Given the description of an element on the screen output the (x, y) to click on. 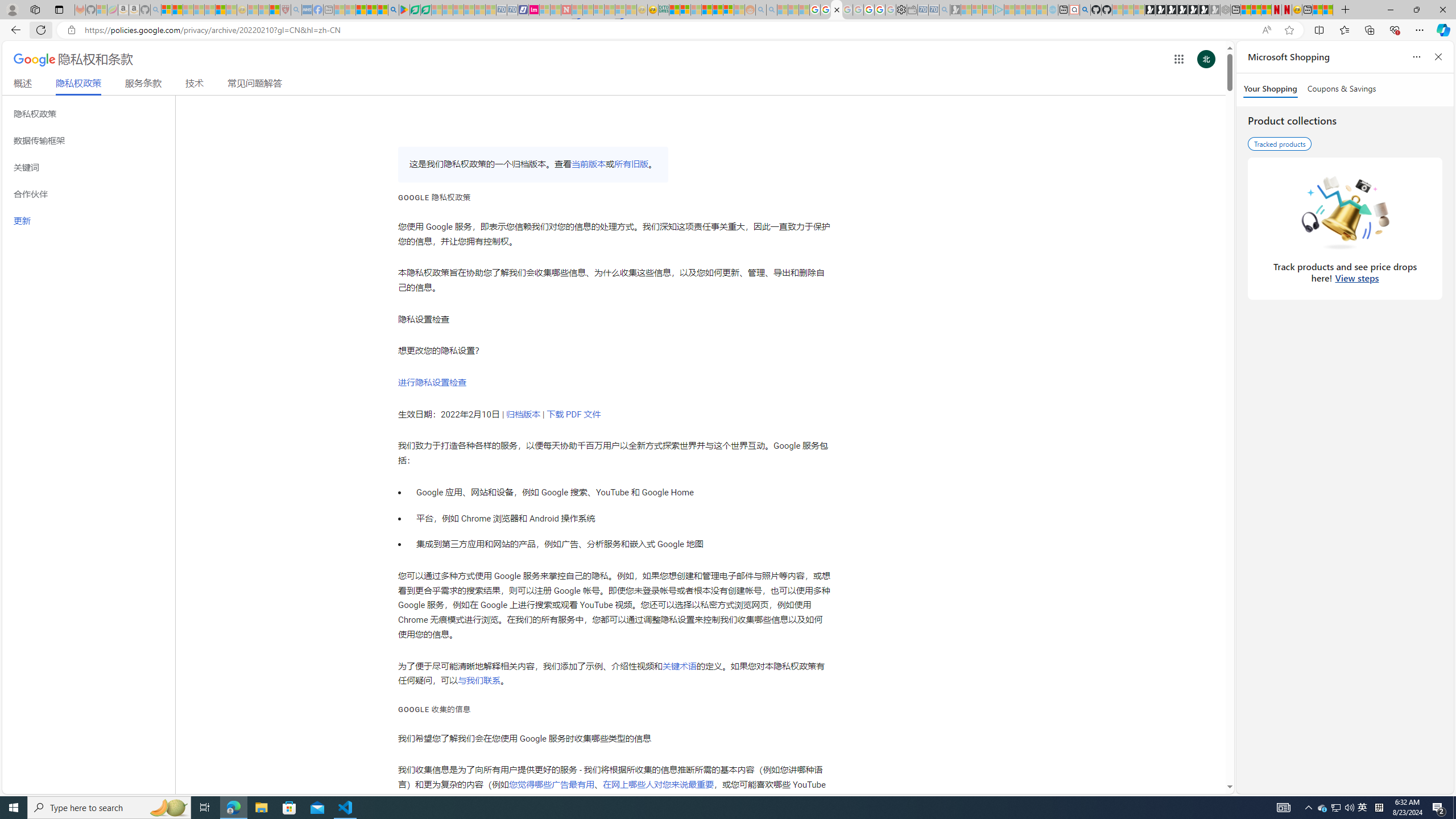
Terms of Use Agreement (414, 9)
